Given the description of an element on the screen output the (x, y) to click on. 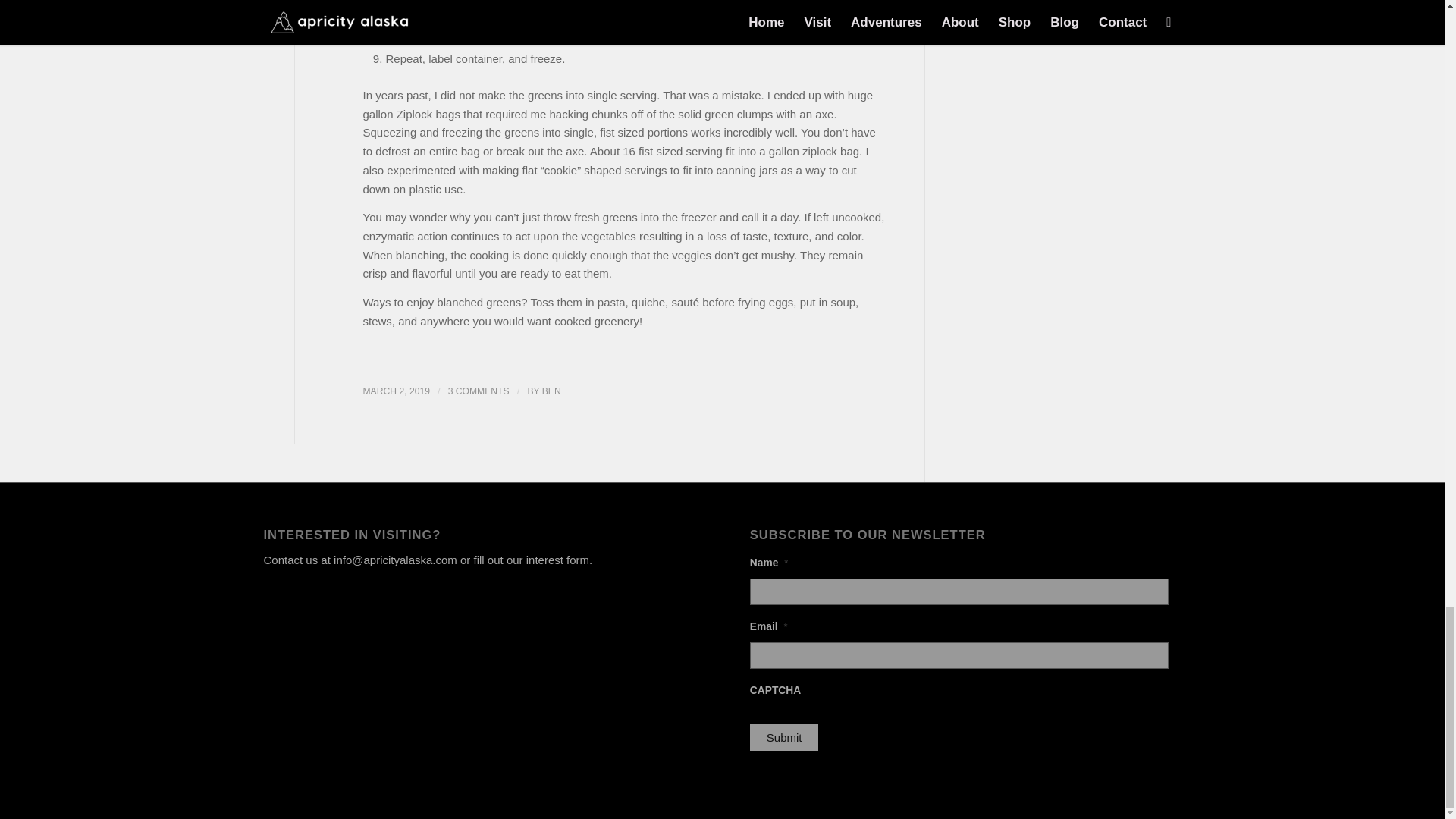
BEN (550, 390)
3 COMMENTS (478, 390)
Submit (783, 737)
Posts by Ben (550, 390)
